Given the description of an element on the screen output the (x, y) to click on. 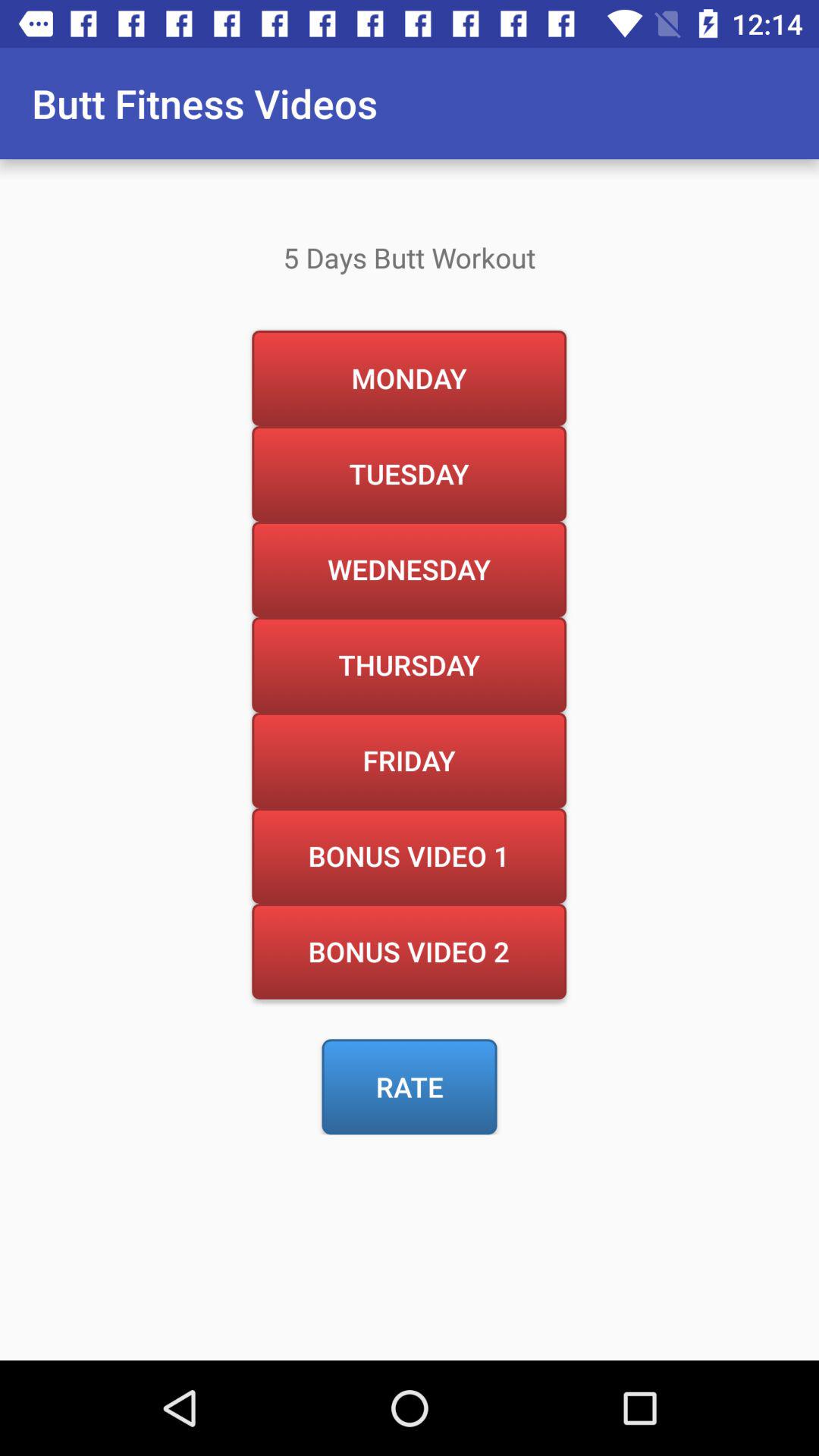
click icon below the thursday item (408, 760)
